Given the description of an element on the screen output the (x, y) to click on. 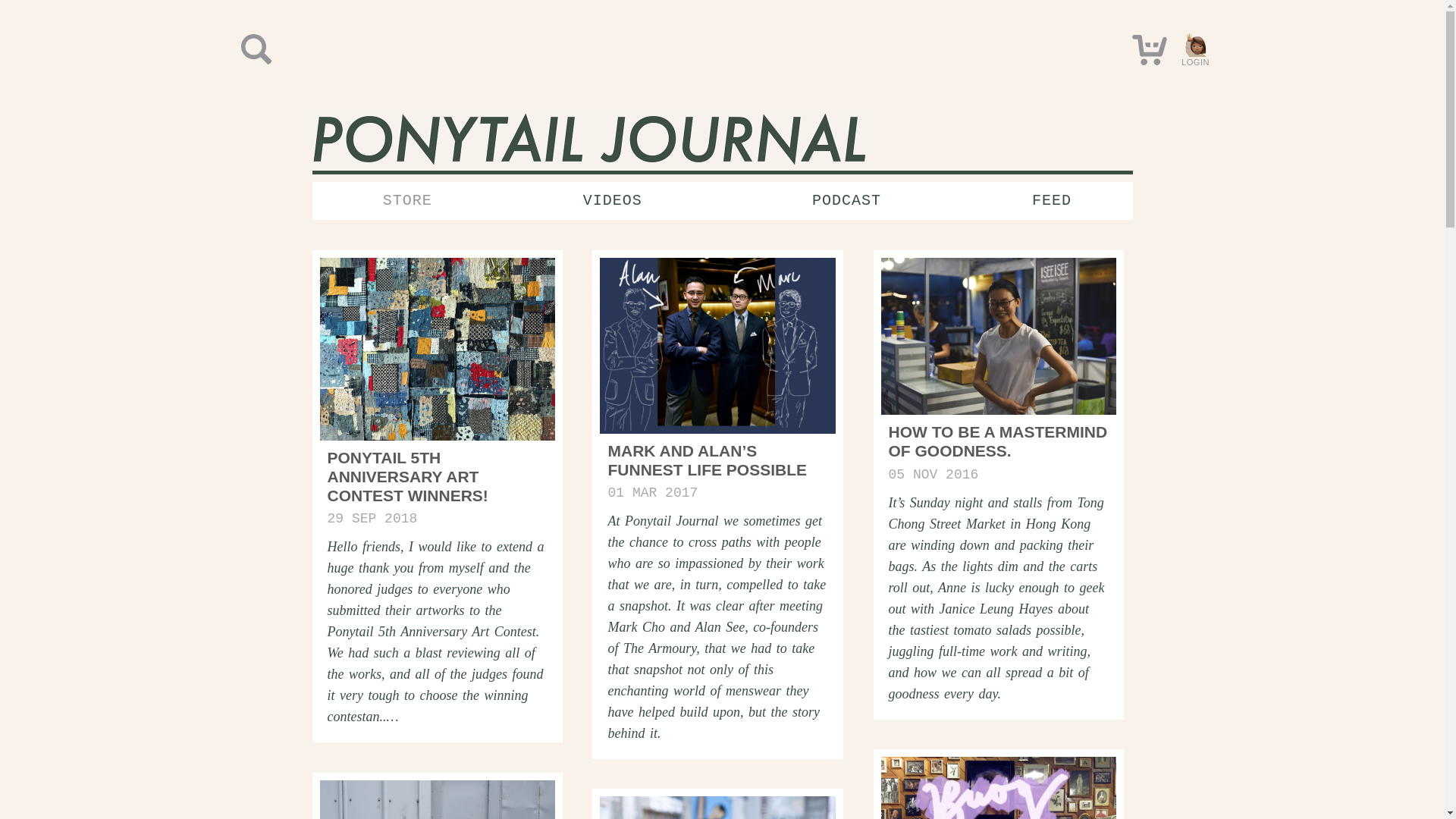
PONYTAIL 5TH ANNIVERSARY ART CONTEST WINNERS! (407, 476)
LOGIN (1194, 50)
FEED (1051, 200)
Ponytail Journal (589, 140)
STORE (407, 200)
VIDEOS (612, 200)
PODCAST (846, 200)
